Given the description of an element on the screen output the (x, y) to click on. 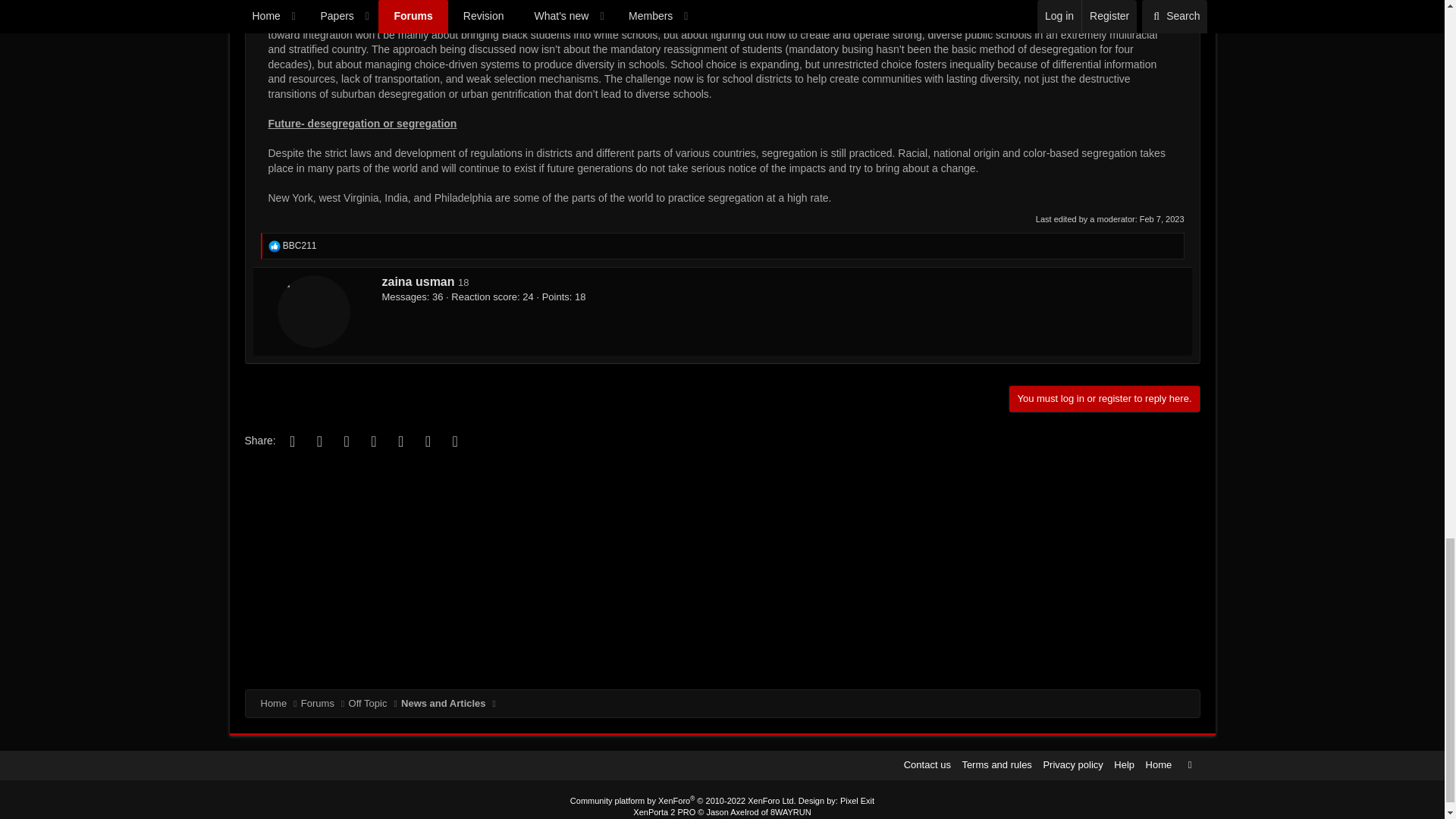
Like (274, 246)
RSS (1189, 764)
Feb 7, 2023 at 10:07 PM (1162, 218)
